Given the description of an element on the screen output the (x, y) to click on. 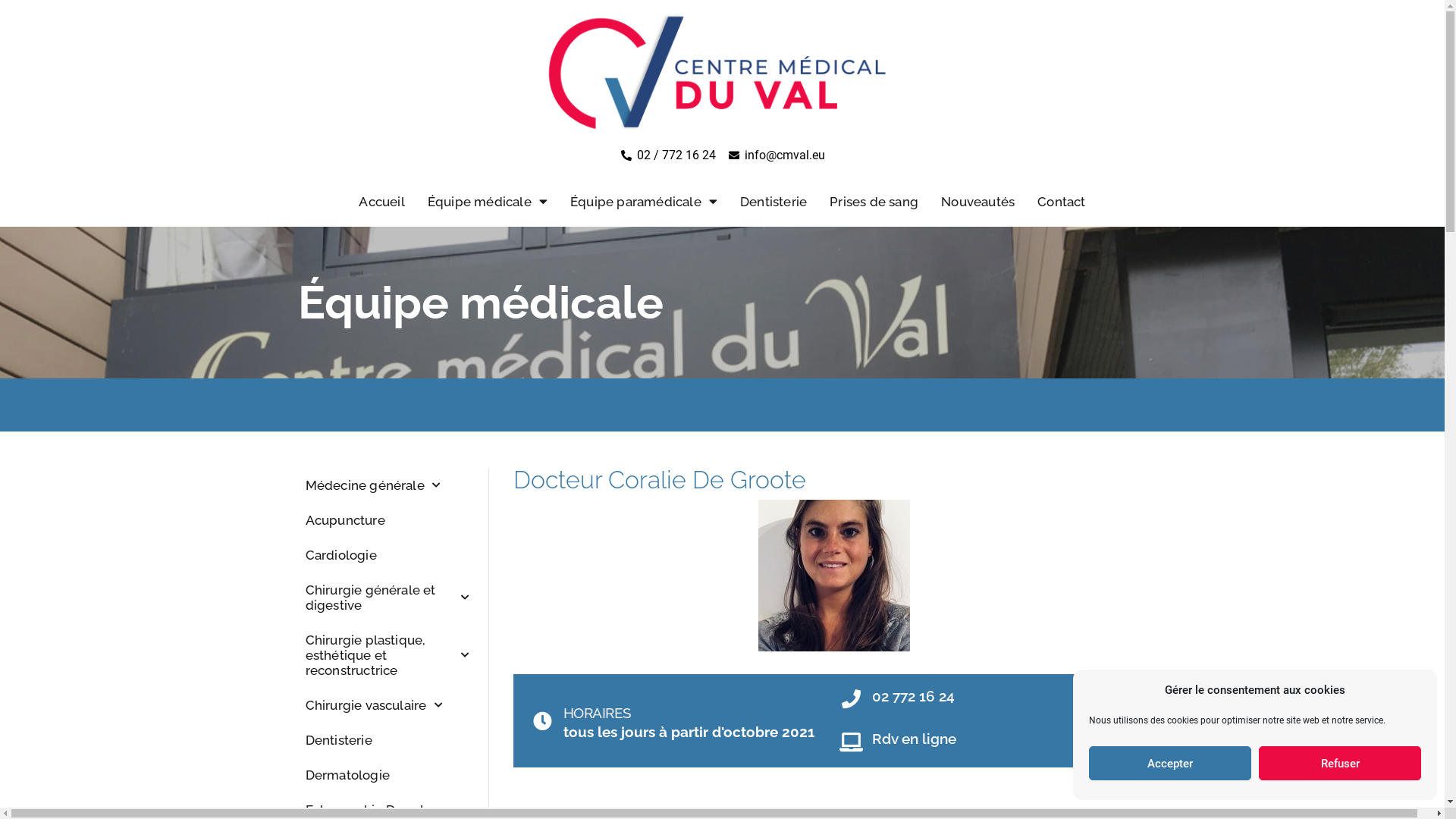
Refuser Element type: text (1339, 763)
Prises de sang Element type: text (873, 201)
info@cmval.eu Element type: text (776, 155)
Acupuncture Element type: text (386, 519)
Accueil Element type: text (381, 201)
Dentisterie Element type: text (773, 201)
Dermatologie Element type: text (386, 774)
02 772 16 24 Element type: text (913, 695)
Dentisterie Element type: text (386, 739)
Cardiologie Element type: text (386, 554)
Rdv en ligne Element type: text (914, 738)
Accepter Element type: text (1169, 763)
02 / 772 16 24 Element type: text (667, 155)
Contact Element type: text (1061, 201)
Chirurgie vasculaire Element type: text (386, 704)
